Given the description of an element on the screen output the (x, y) to click on. 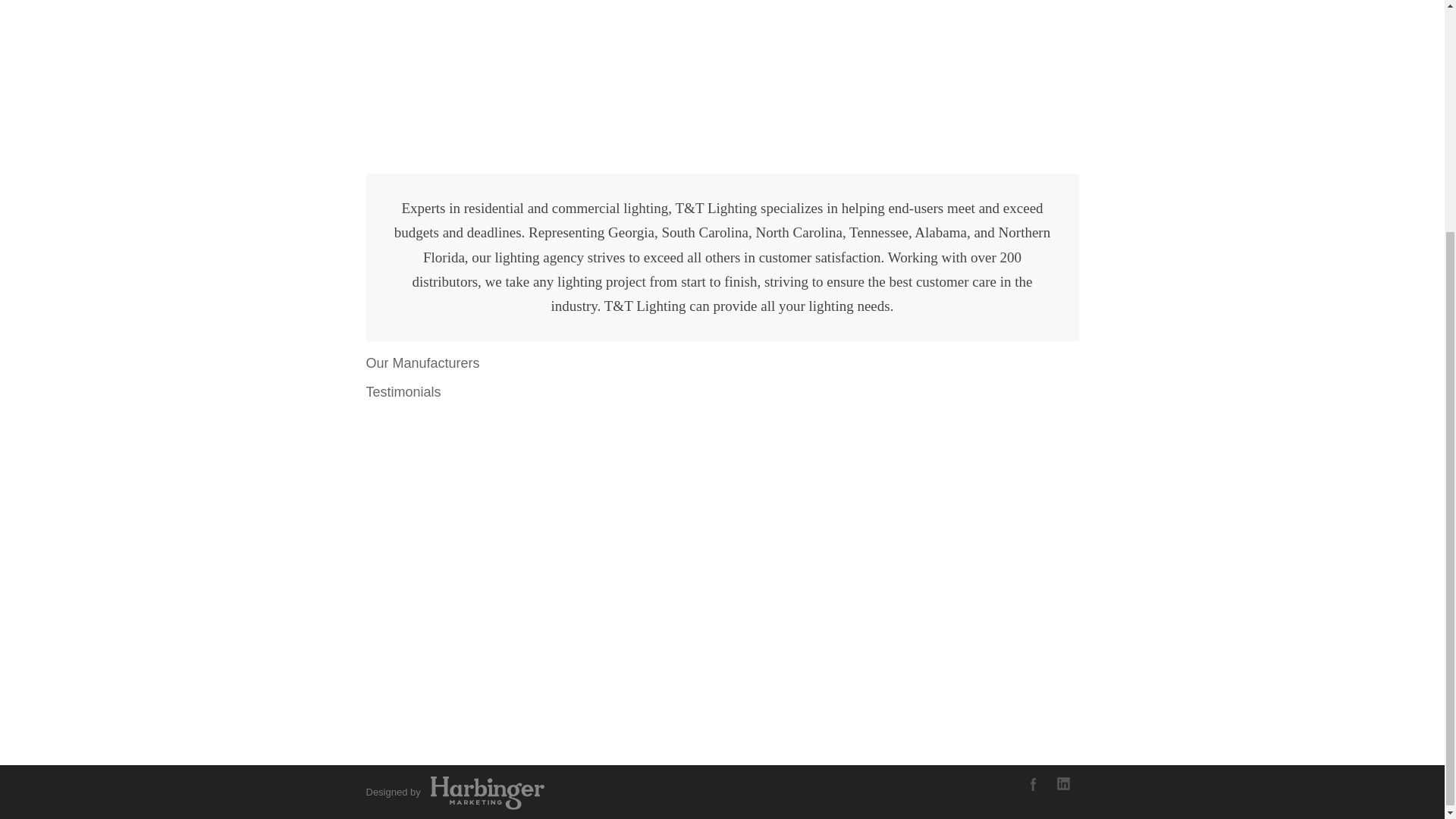
Harbinger Marketing (483, 791)
LinkedIn (1063, 784)
Facebook (1032, 784)
Facebook (1032, 784)
LinkedIn (1063, 784)
